Given the description of an element on the screen output the (x, y) to click on. 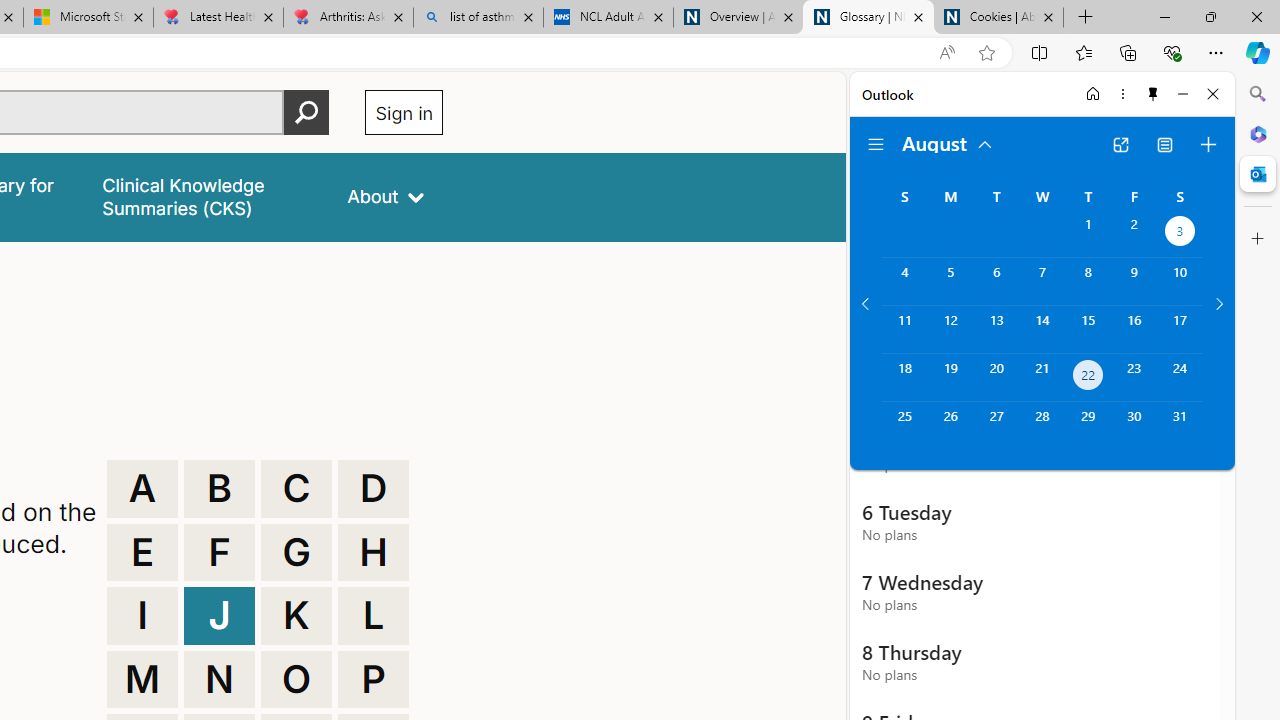
Glossary | NICE (868, 17)
Tuesday, August 27, 2024.  (996, 425)
E (142, 551)
August (948, 141)
G (296, 551)
B (219, 488)
Thursday, August 22, 2024. Today.  (1088, 377)
O (296, 679)
E (142, 551)
Friday, August 9, 2024.  (1134, 281)
